Given the description of an element on the screen output the (x, y) to click on. 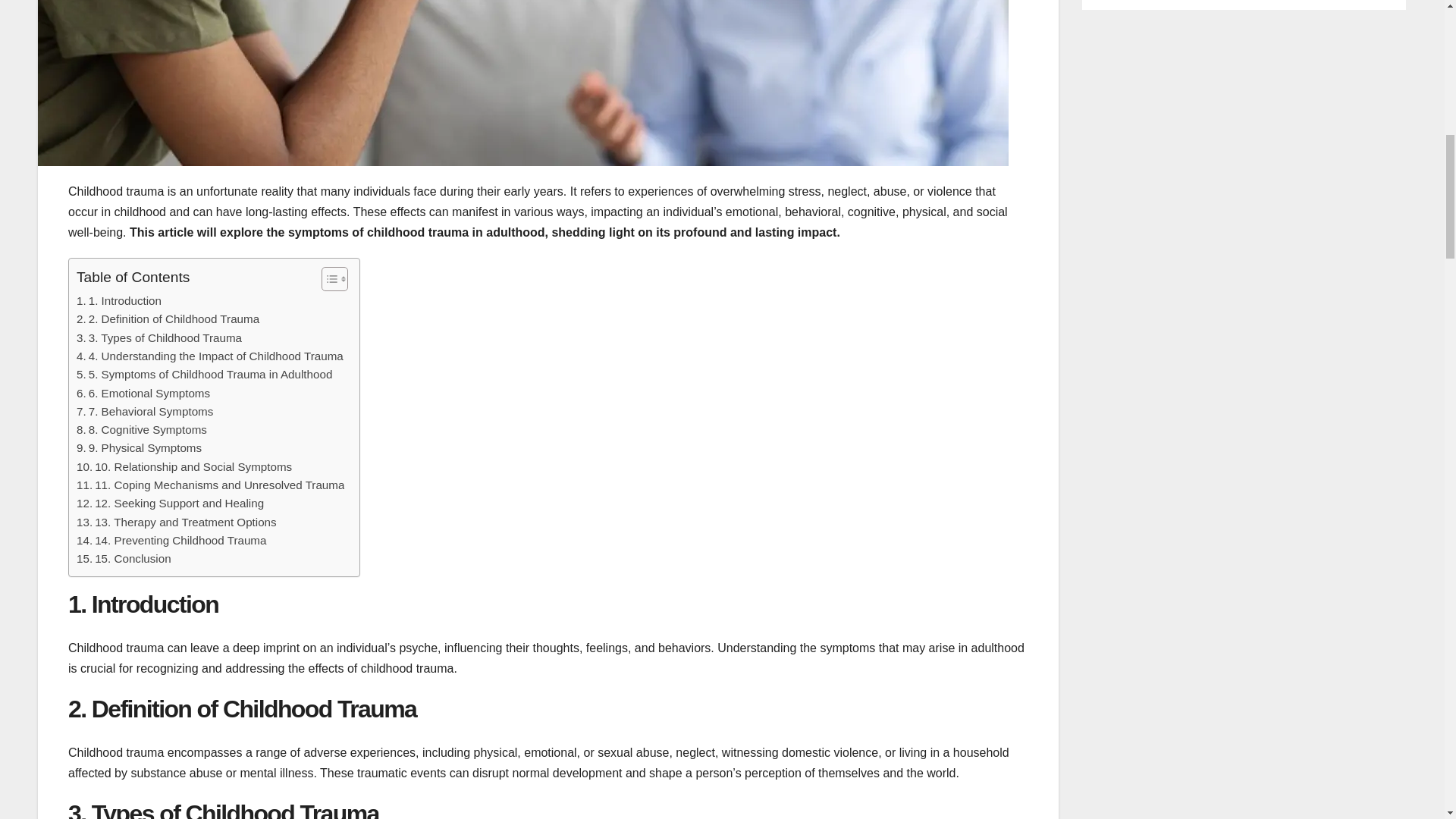
6. Emotional Symptoms (143, 393)
8. Cognitive Symptoms (141, 429)
1. Introduction (119, 300)
4. Understanding the Impact of Childhood Trauma (210, 356)
9. Physical Symptoms (139, 447)
4. Understanding the Impact of Childhood Trauma (210, 356)
7. Behavioral Symptoms (144, 411)
12. Seeking Support and Healing (170, 503)
5. Symptoms of Childhood Trauma in Adulthood (204, 374)
6. Emotional Symptoms (143, 393)
